Given the description of an element on the screen output the (x, y) to click on. 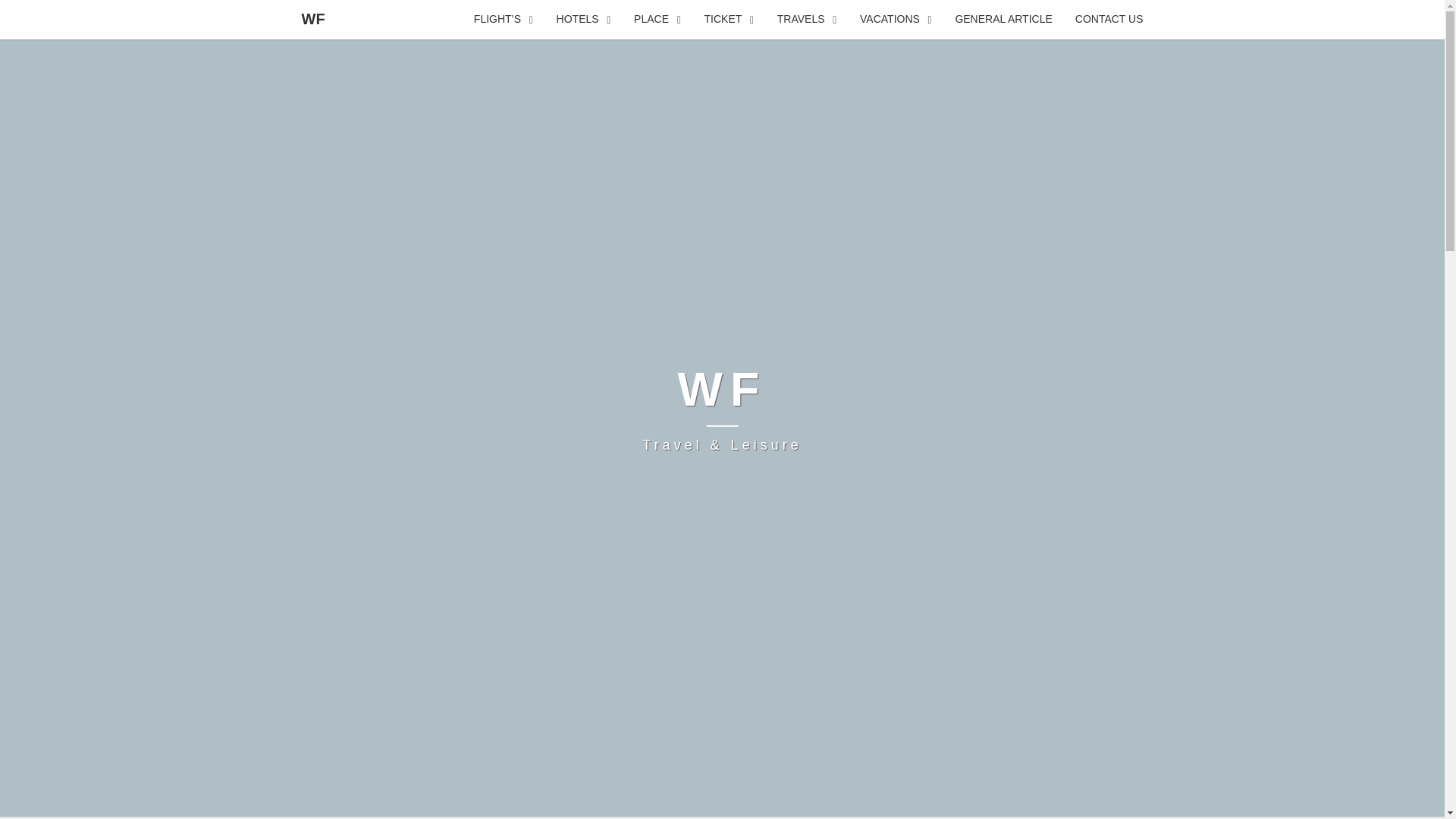
PLACE (658, 19)
TRAVELS (806, 19)
WF (722, 407)
HOTELS (583, 19)
WF (312, 18)
TICKET (729, 19)
VACATIONS (895, 19)
CONTACT US (1109, 19)
GENERAL ARTICLE (1002, 19)
